Given the description of an element on the screen output the (x, y) to click on. 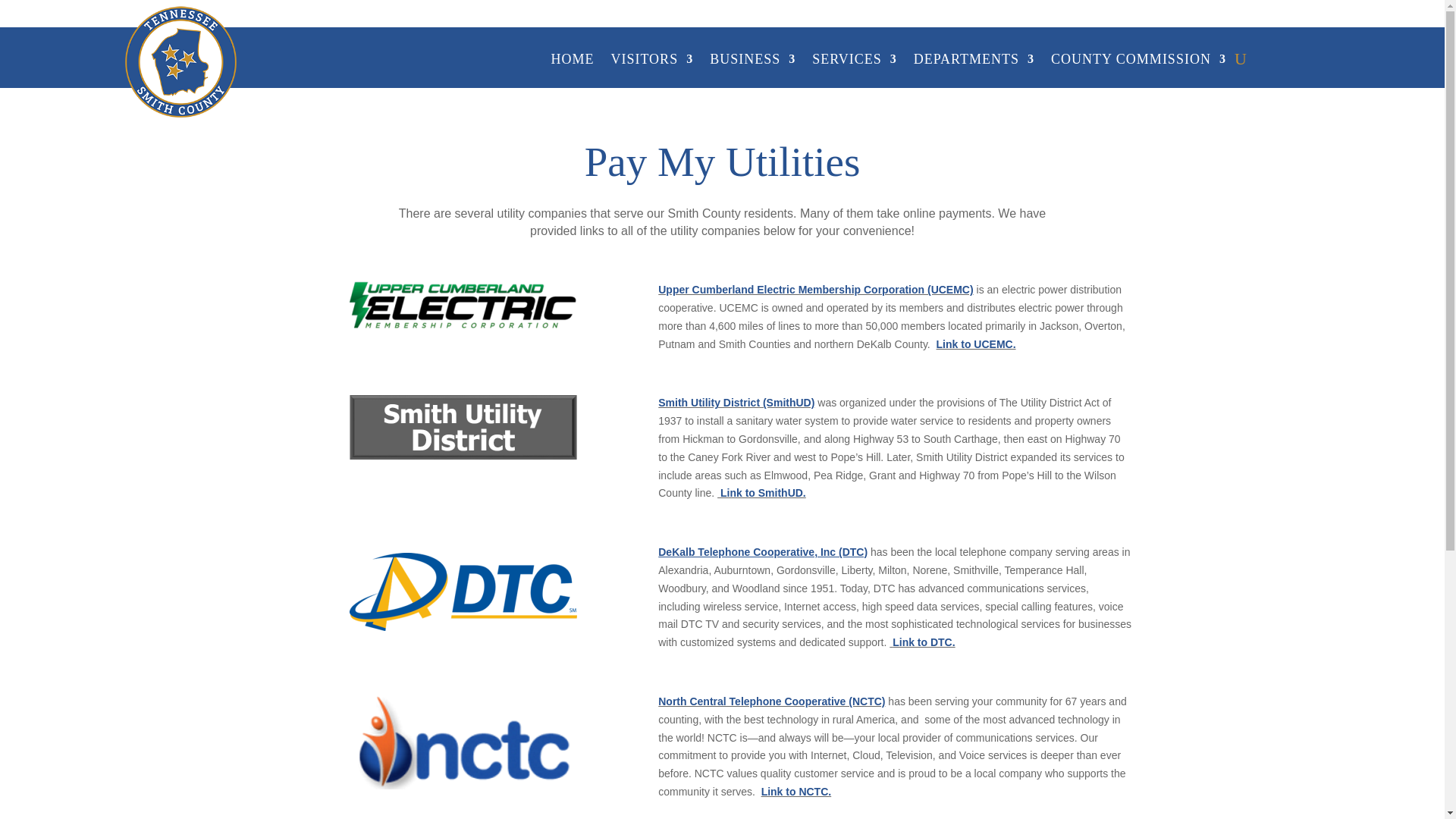
VISITORS (651, 62)
DTC (462, 591)
BUSINESS (752, 62)
UCEMC (462, 305)
SERVICES (854, 62)
Smith Utility (462, 426)
HOME (572, 62)
DEPARTMENTS (973, 62)
NCTC (462, 740)
